Given the description of an element on the screen output the (x, y) to click on. 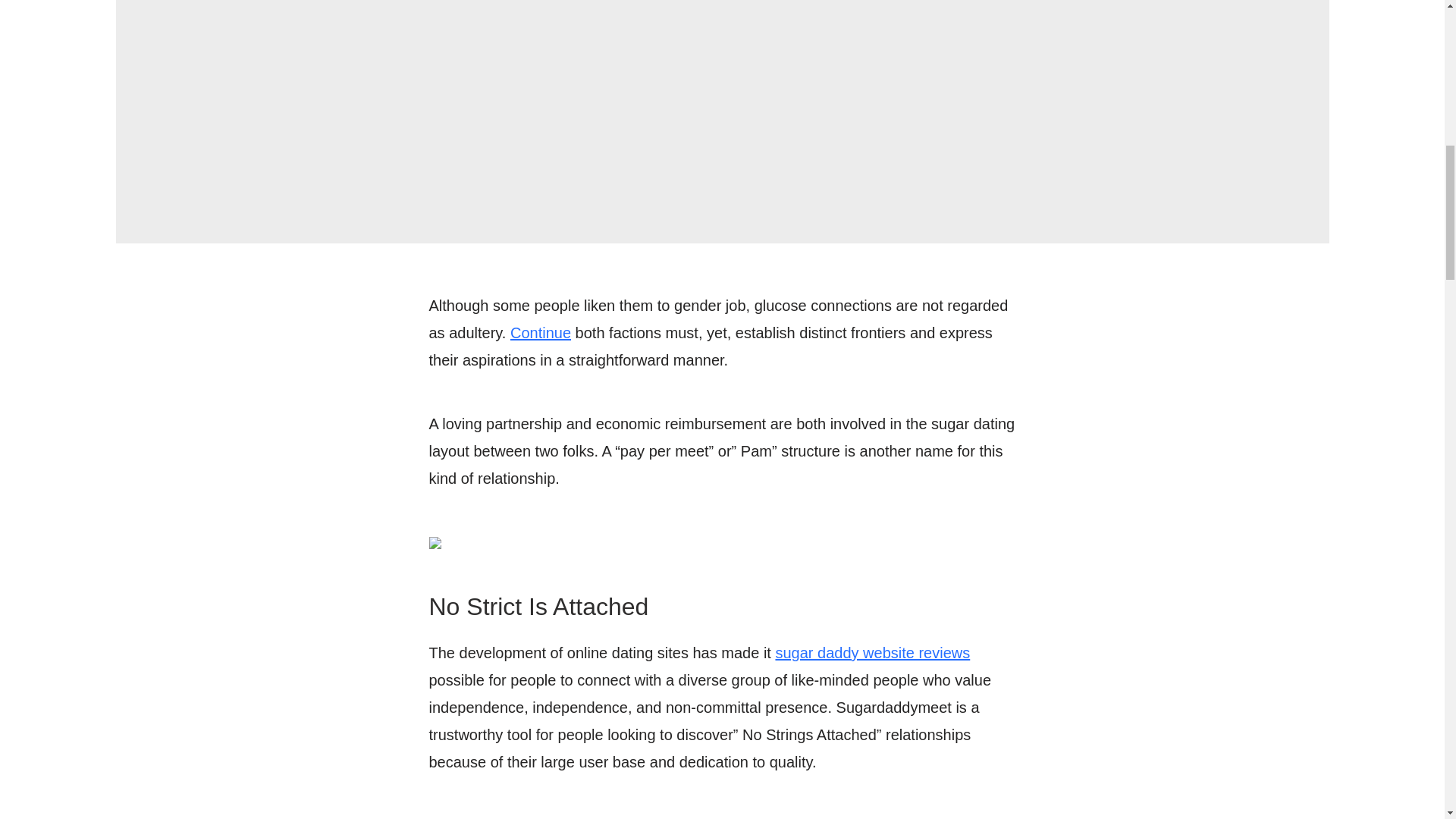
sugar daddy website reviews (871, 652)
Continue (540, 332)
